Given the description of an element on the screen output the (x, y) to click on. 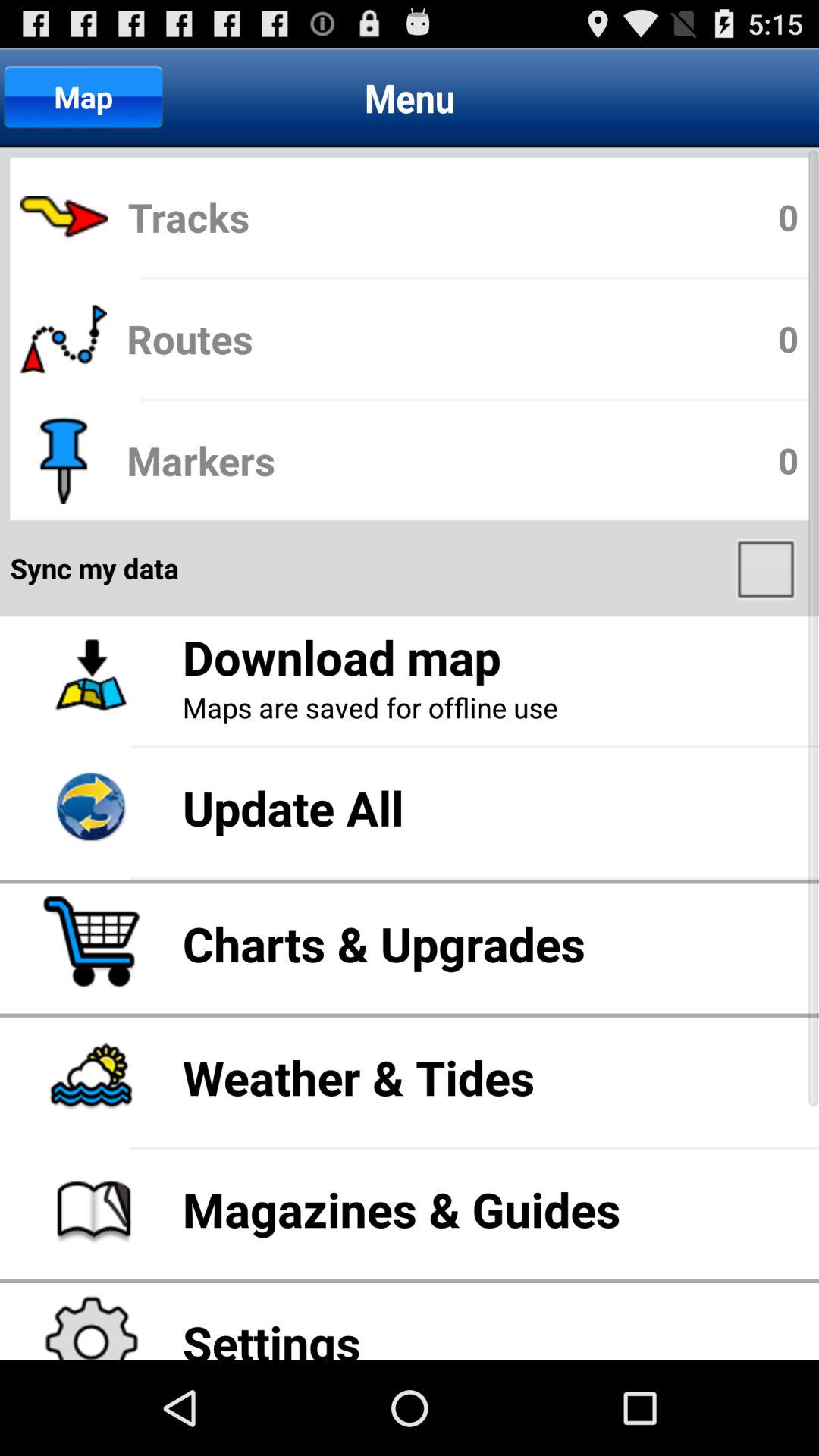
turn off the app next to the sync my data item (767, 567)
